Given the description of an element on the screen output the (x, y) to click on. 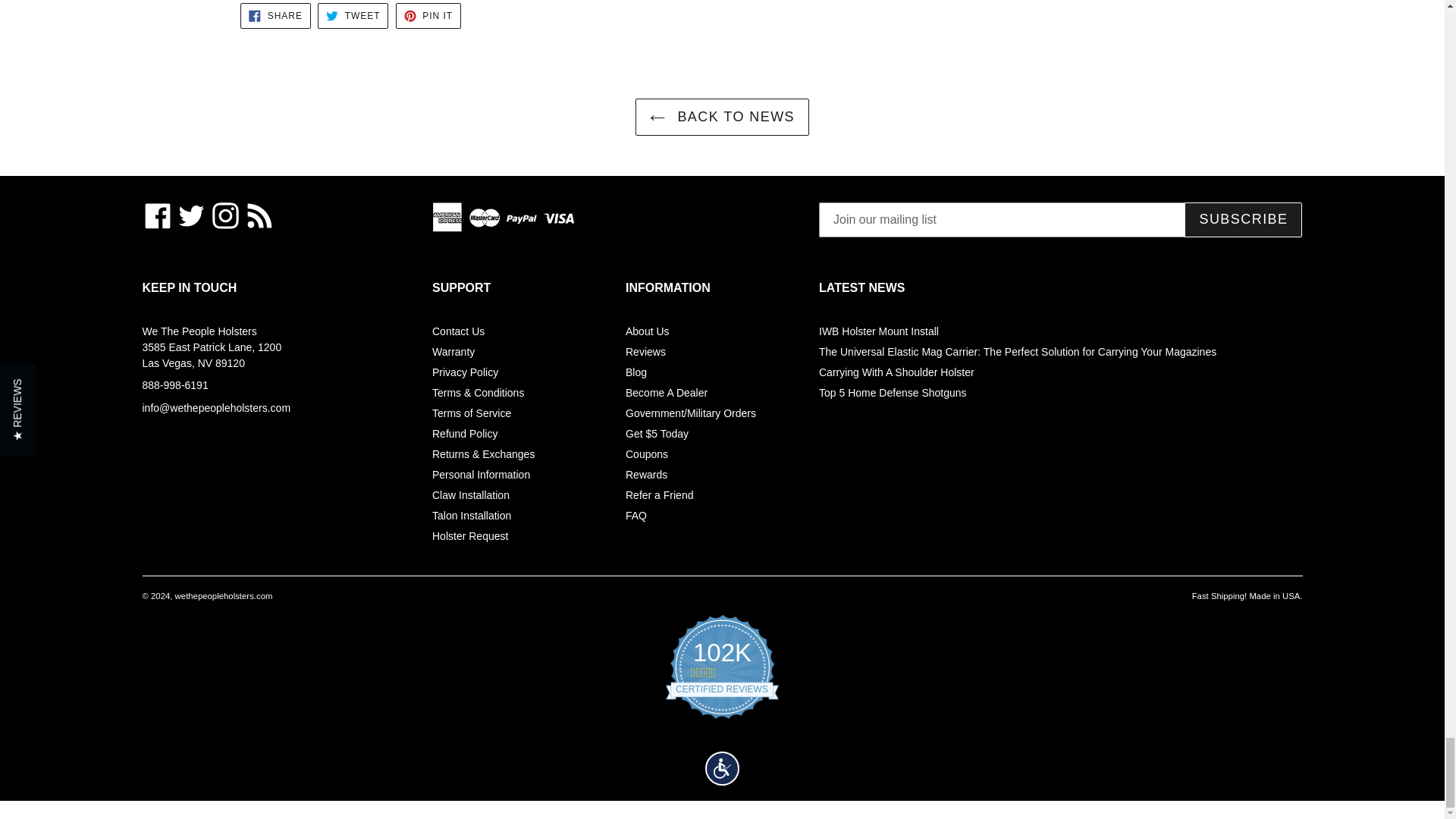
Tweet on Twitter (352, 15)
Pin on Pinterest (428, 15)
Share on Facebook (275, 15)
wethepeopleholsters.com on Instagram (225, 215)
wethepeopleholsters.com on Twitter (191, 215)
wethepeopleholsters.com on Facebook (157, 215)
